Given the description of an element on the screen output the (x, y) to click on. 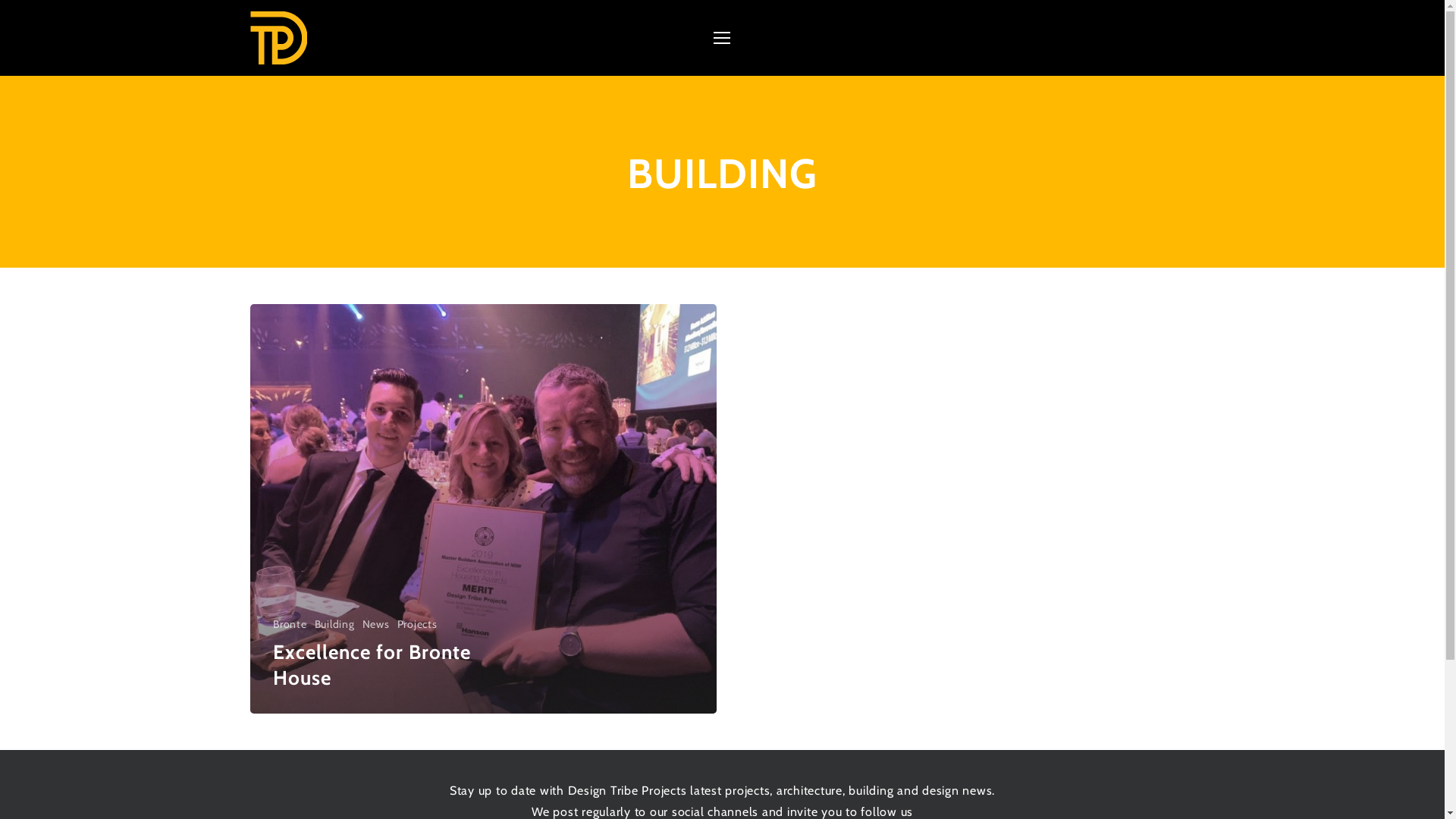
Projects Element type: text (417, 624)
Building Element type: text (333, 624)
Bronte Element type: text (290, 624)
News Element type: text (375, 624)
Excellence for Bronte House Element type: text (371, 665)
